Given the description of an element on the screen output the (x, y) to click on. 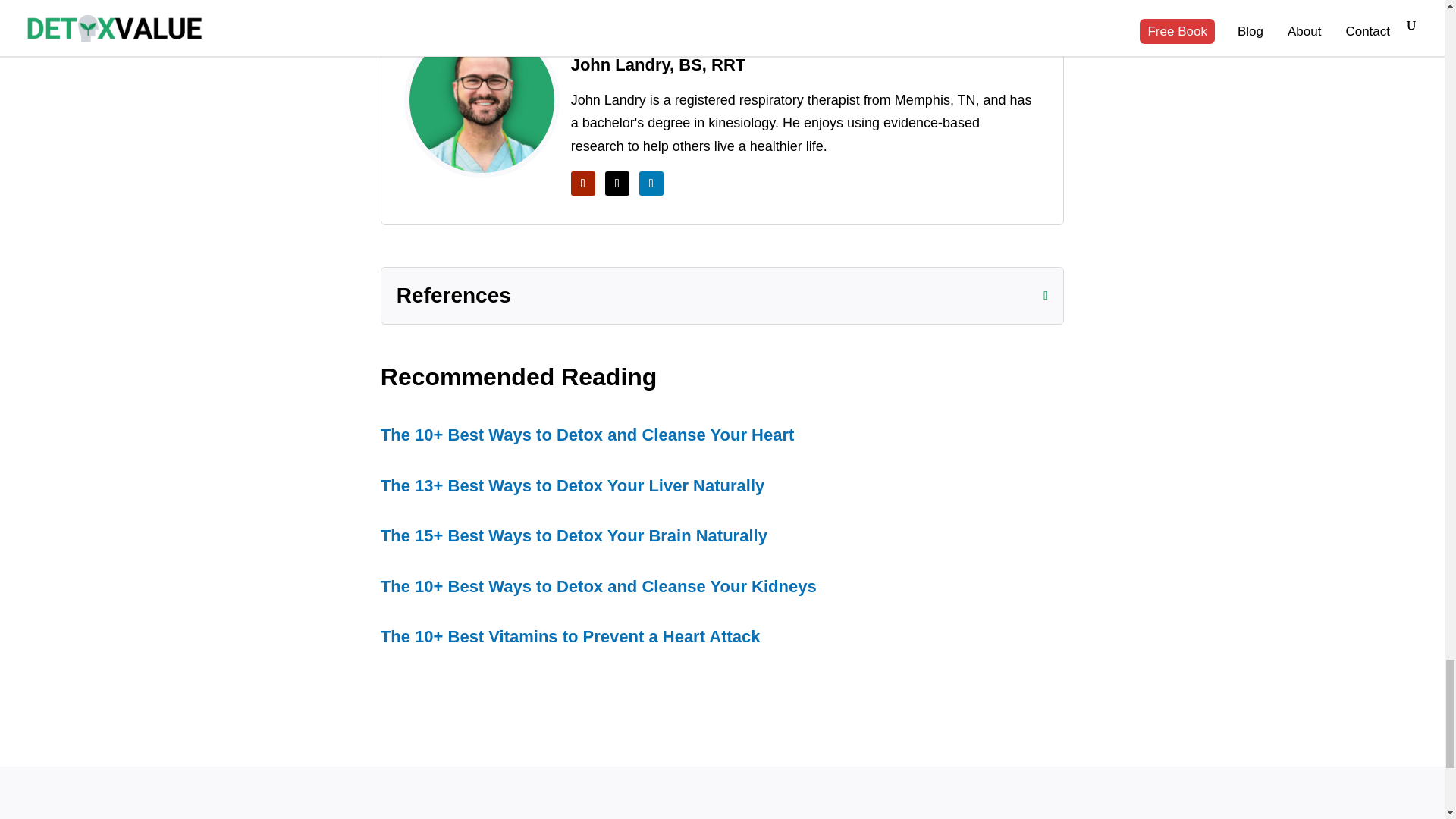
Follow on Youtube (582, 183)
Follow on X (616, 183)
john-landry-bs-rrt (481, 99)
Follow on LinkedIn (651, 183)
